Given the description of an element on the screen output the (x, y) to click on. 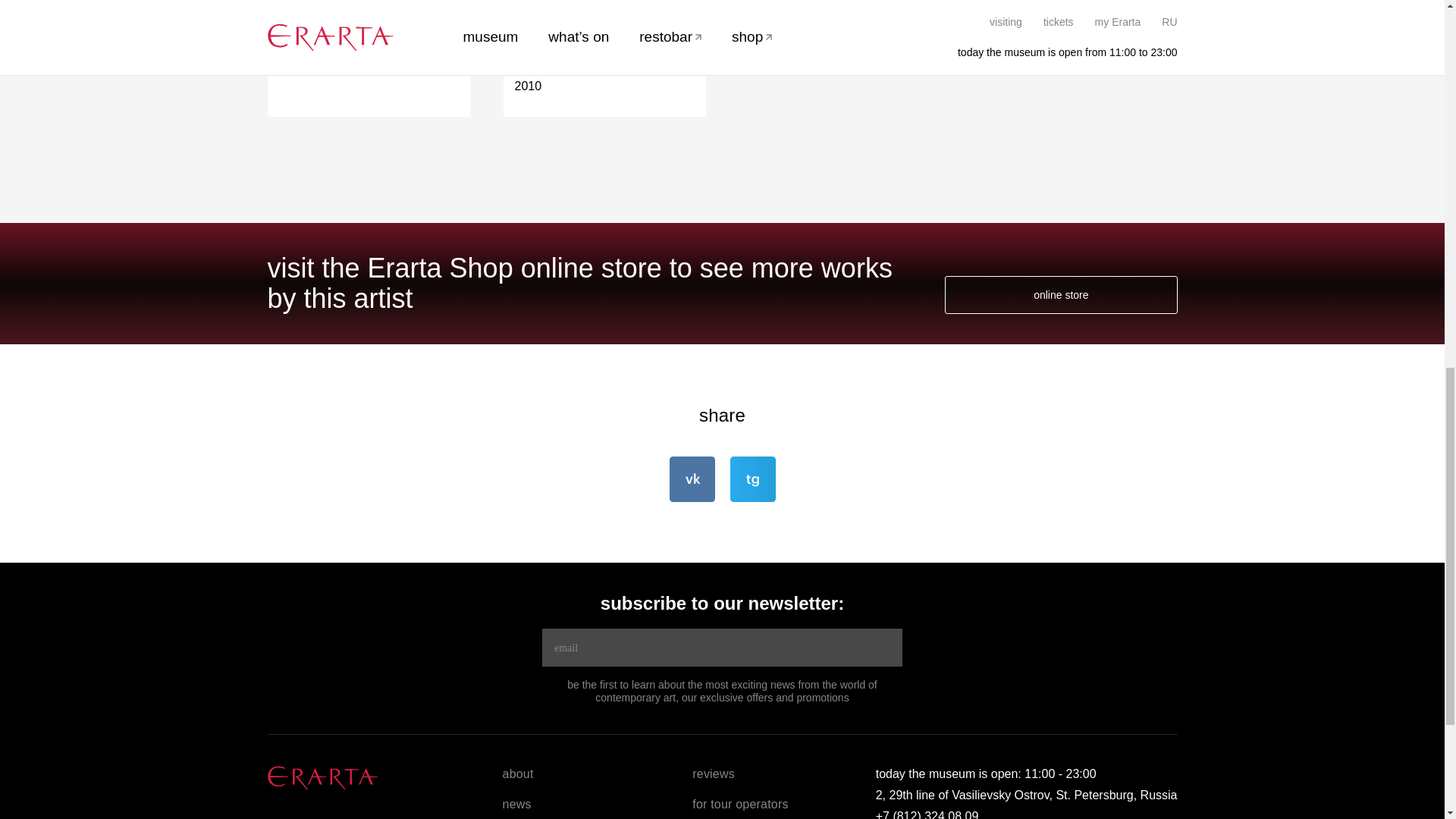
online store (1060, 294)
Knight and Button (368, 19)
Sewing Machine and Typewriter (603, 28)
